Given the description of an element on the screen output the (x, y) to click on. 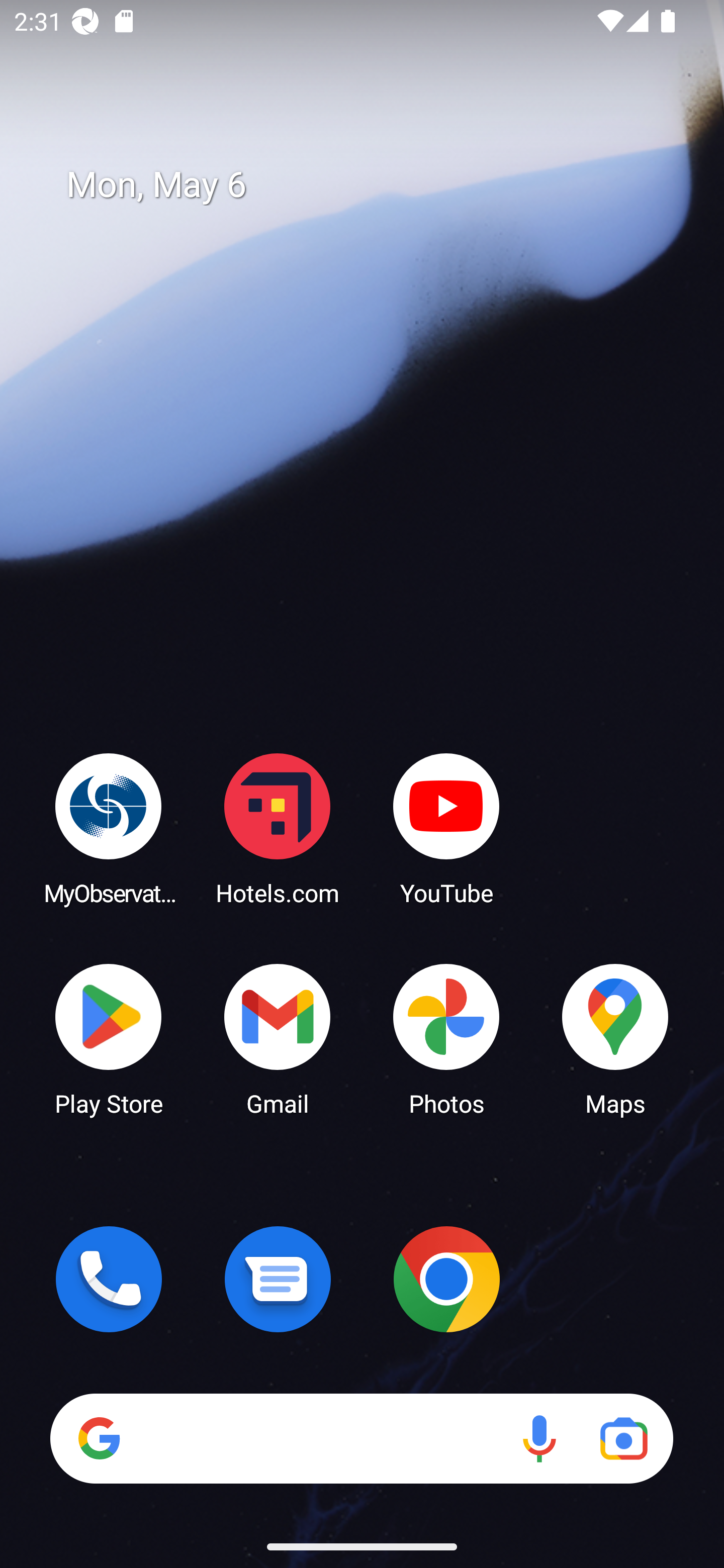
Mon, May 6 (375, 184)
MyObservatory (108, 828)
Hotels.com (277, 828)
YouTube (445, 828)
Play Store (108, 1038)
Gmail (277, 1038)
Photos (445, 1038)
Maps (615, 1038)
Phone (108, 1279)
Messages (277, 1279)
Chrome (446, 1279)
Search Voice search Google Lens (361, 1438)
Voice search (539, 1438)
Google Lens (623, 1438)
